Given the description of an element on the screen output the (x, y) to click on. 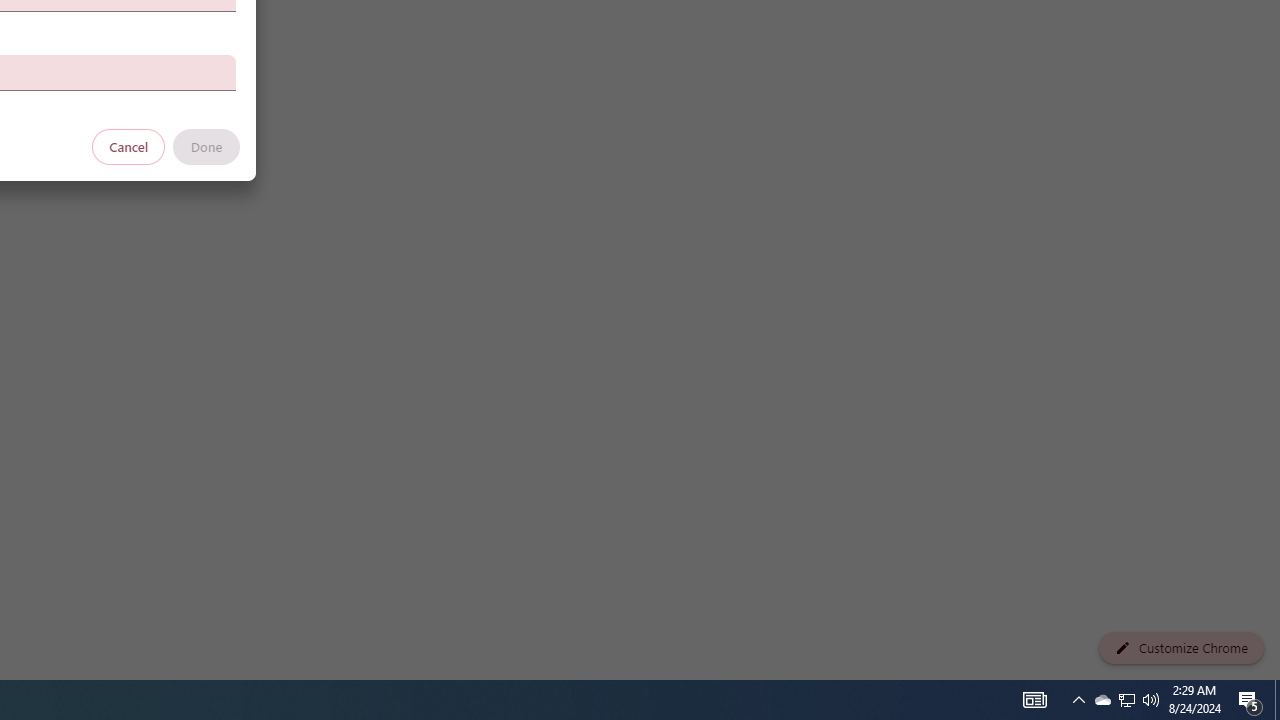
Done (206, 146)
Cancel (129, 146)
